Given the description of an element on the screen output the (x, y) to click on. 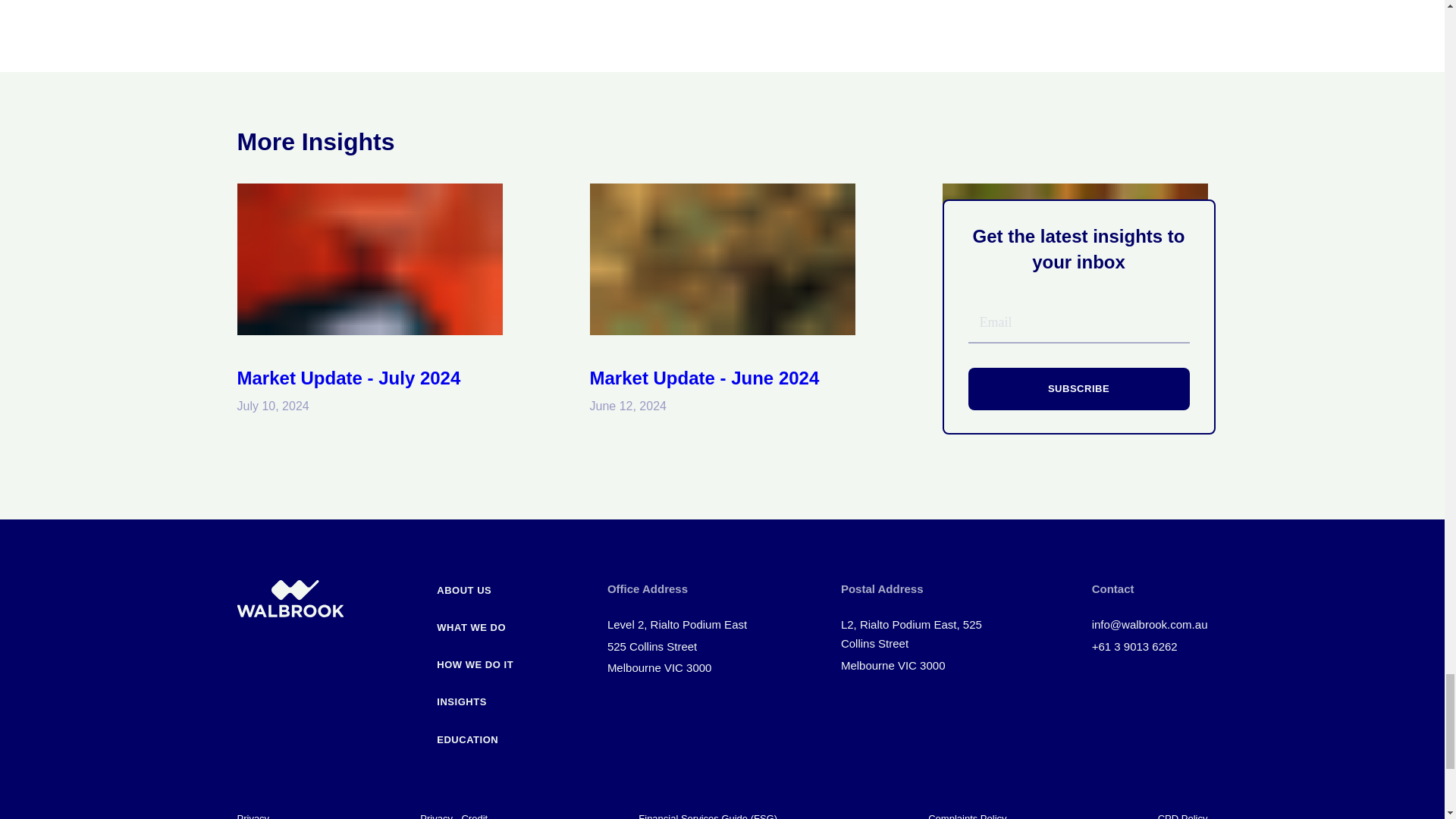
INSIGHTS (474, 696)
Privacy - Credit (453, 815)
Complaints Policy (967, 815)
Privacy (252, 815)
EDUCATION (474, 733)
Market Update - May 2024 (1052, 377)
Market Update - July 2024 (347, 377)
ABOUT US (474, 584)
Market Update - June 2024 (704, 377)
WHAT WE DO (474, 621)
